Given the description of an element on the screen output the (x, y) to click on. 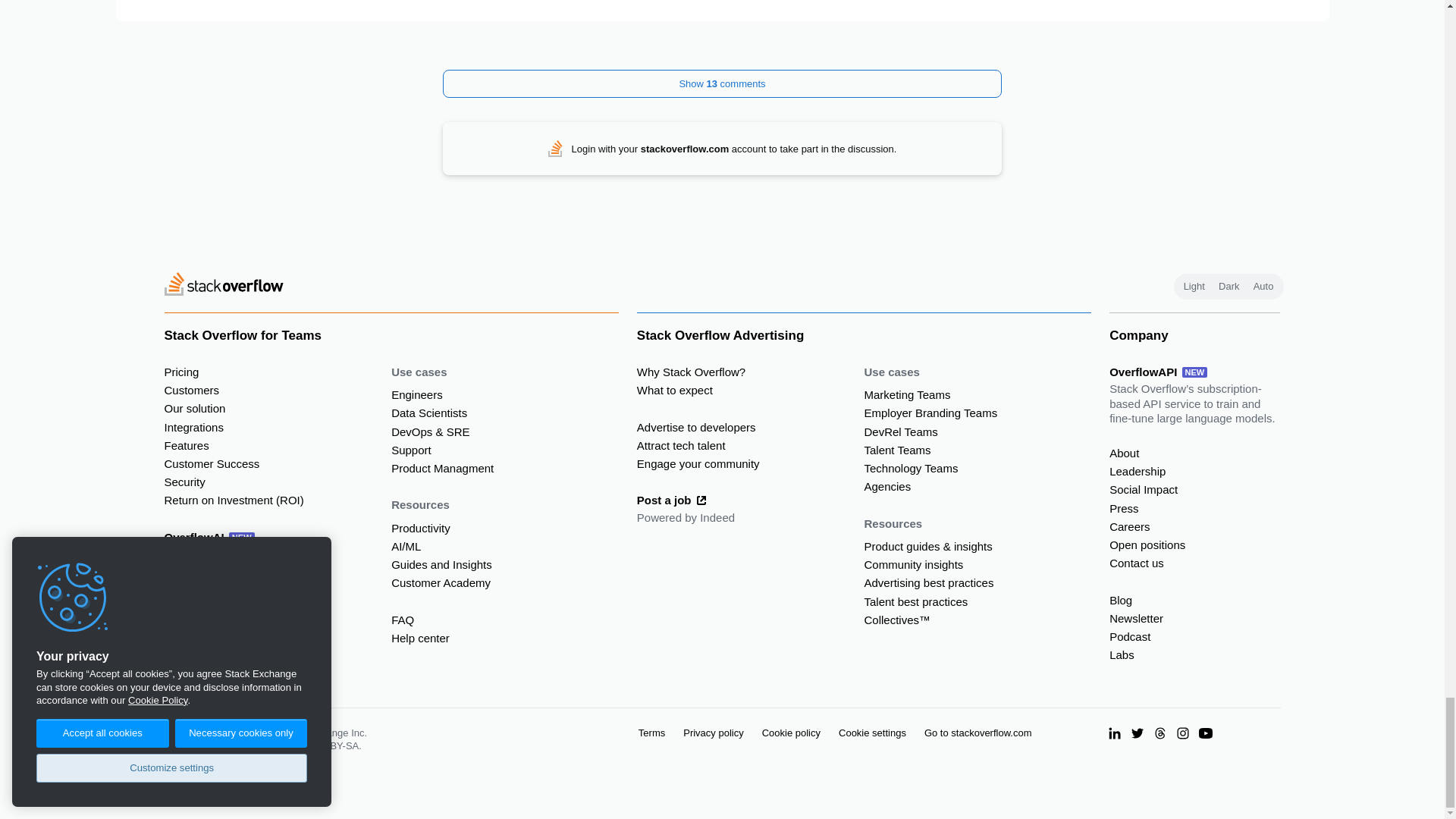
LinkedIn (1114, 732)
Threads (1160, 732)
Show 13 comments (721, 83)
Return to home (222, 285)
Open OneTrust cookie settings (871, 732)
YouTube (1205, 732)
Instagram (1182, 732)
